Given the description of an element on the screen output the (x, y) to click on. 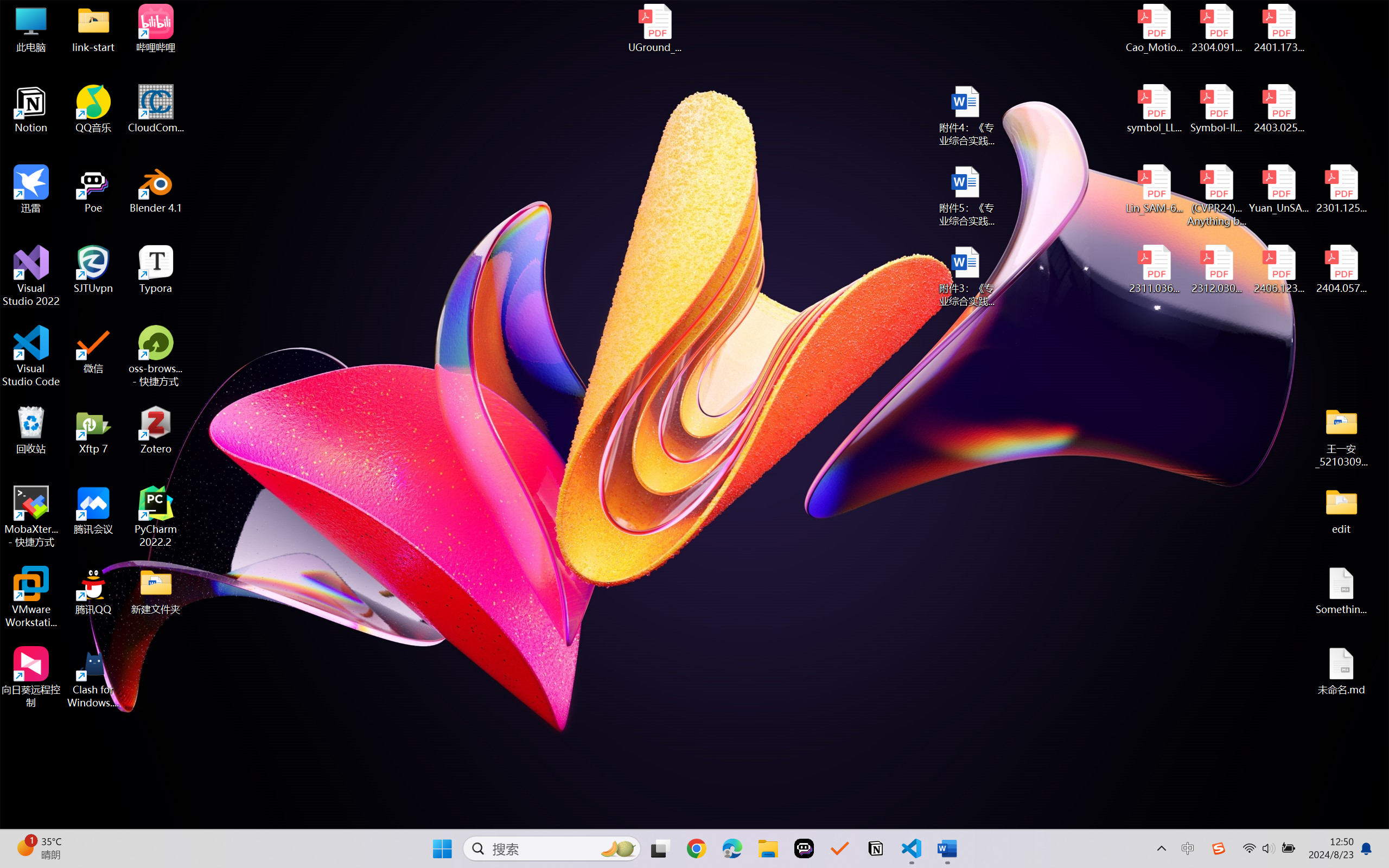
2312.03032v2.pdf (1216, 269)
edit (1340, 510)
Xftp 7 (93, 430)
Visual Studio Code (31, 355)
